Given the description of an element on the screen output the (x, y) to click on. 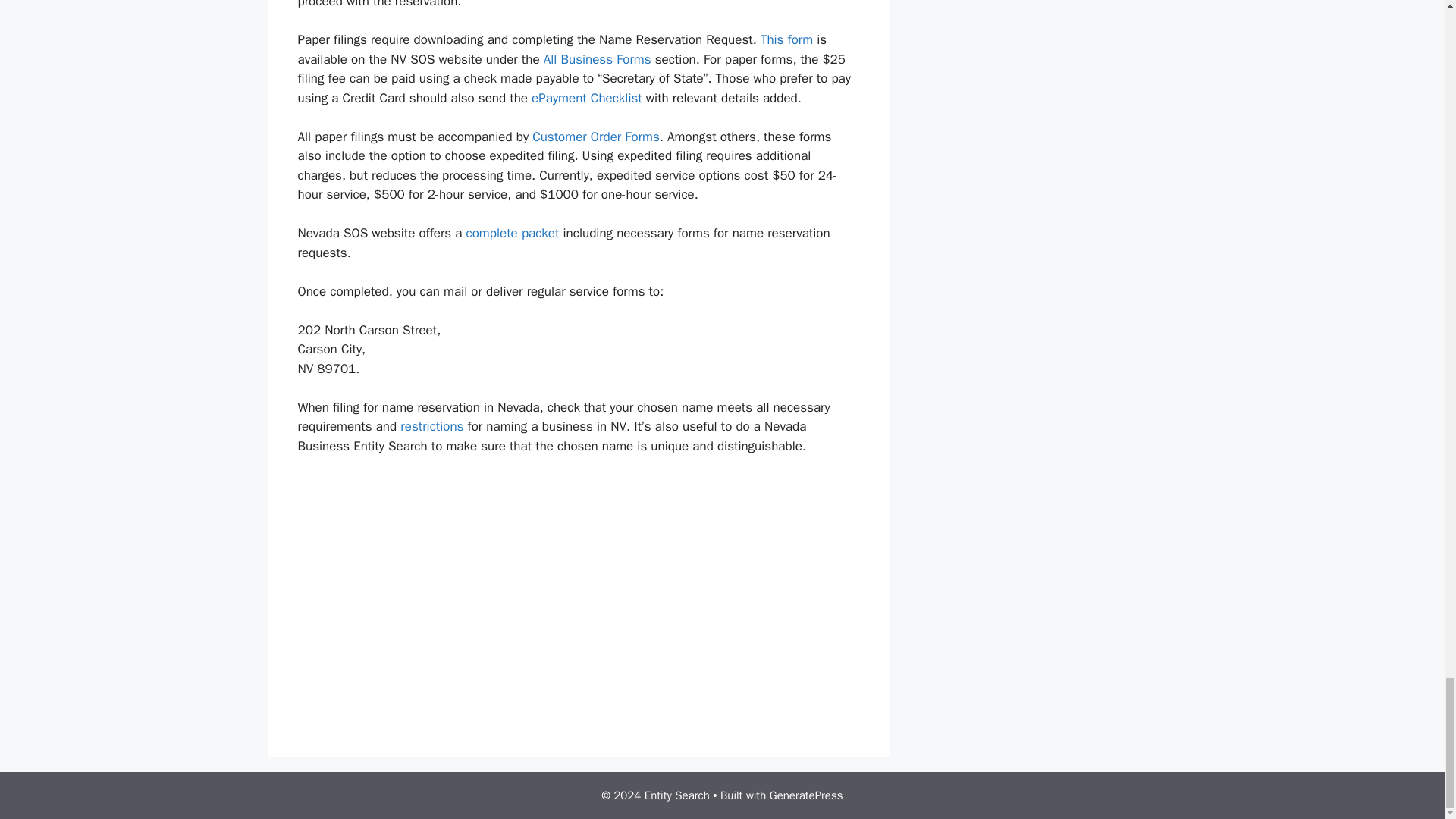
ePayment Checklist (586, 98)
restrictions (431, 426)
complete packet (512, 232)
All Business Forms (596, 59)
GeneratePress (806, 795)
This form (786, 39)
Customer Order Forms (595, 136)
